Given the description of an element on the screen output the (x, y) to click on. 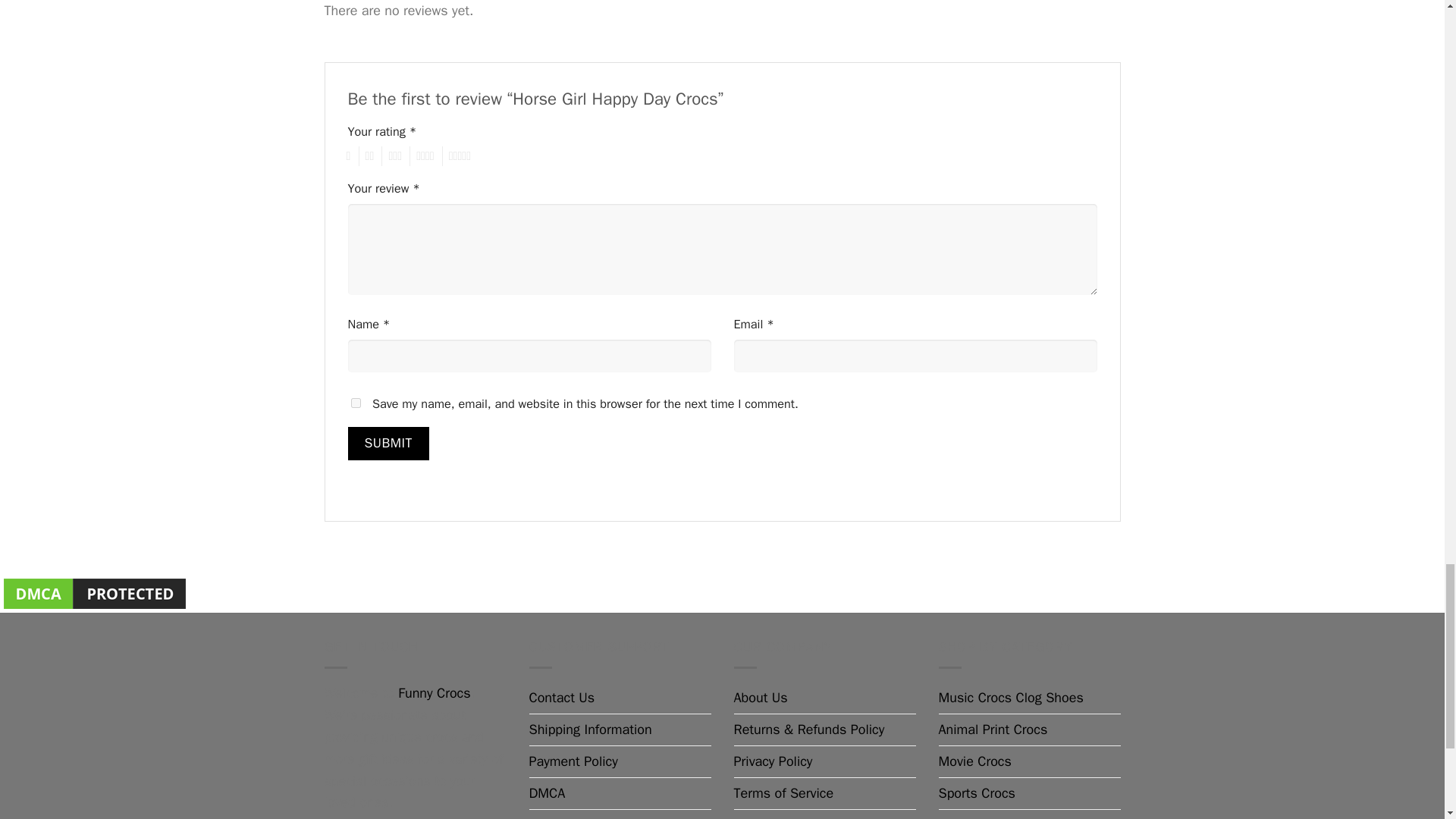
Submit (387, 443)
yes (354, 402)
